Given the description of an element on the screen output the (x, y) to click on. 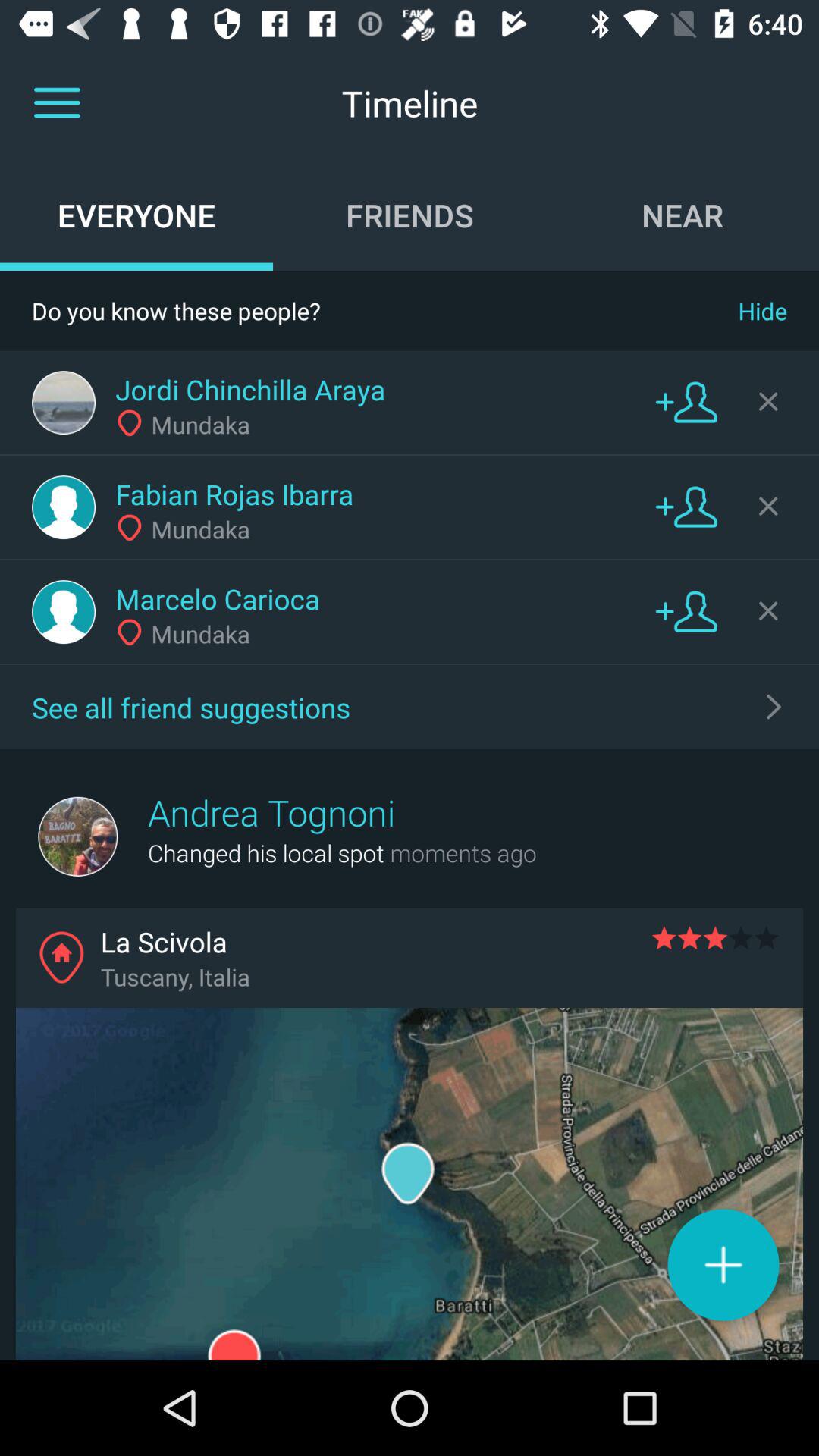
tap item to the left of timeline (57, 103)
